Given the description of an element on the screen output the (x, y) to click on. 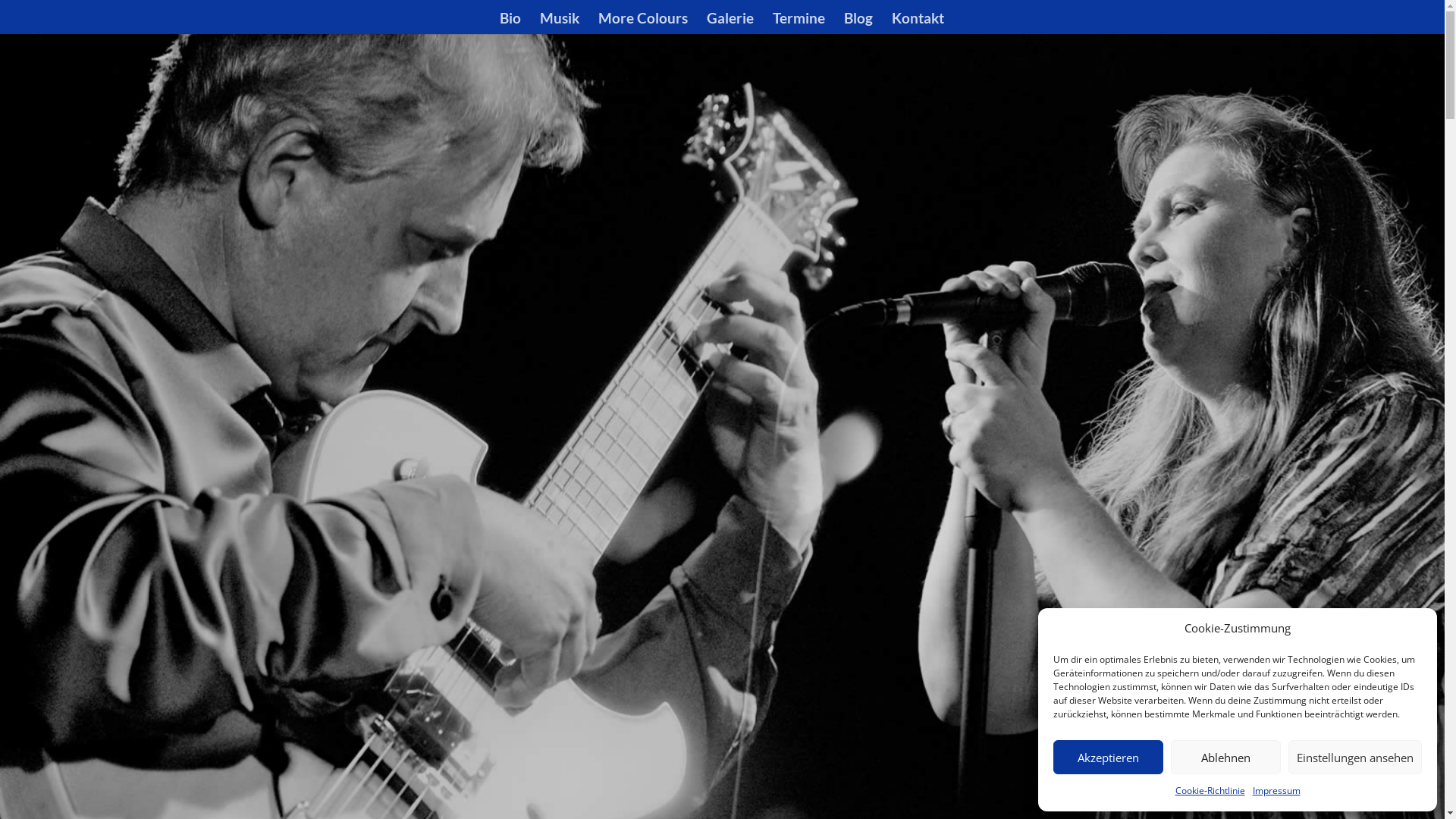
Galerie Element type: text (729, 23)
Termine Element type: text (797, 23)
Einstellungen ansehen Element type: text (1354, 757)
Bio Element type: text (509, 23)
Musik Element type: text (559, 23)
More Colours Element type: text (642, 23)
Cookie-Richtlinie Element type: text (1210, 790)
Ablehnen Element type: text (1225, 757)
Impressum Element type: text (1276, 790)
Blog Element type: text (857, 23)
Kontakt Element type: text (917, 23)
Akzeptieren Element type: text (1108, 757)
